Given the description of an element on the screen output the (x, y) to click on. 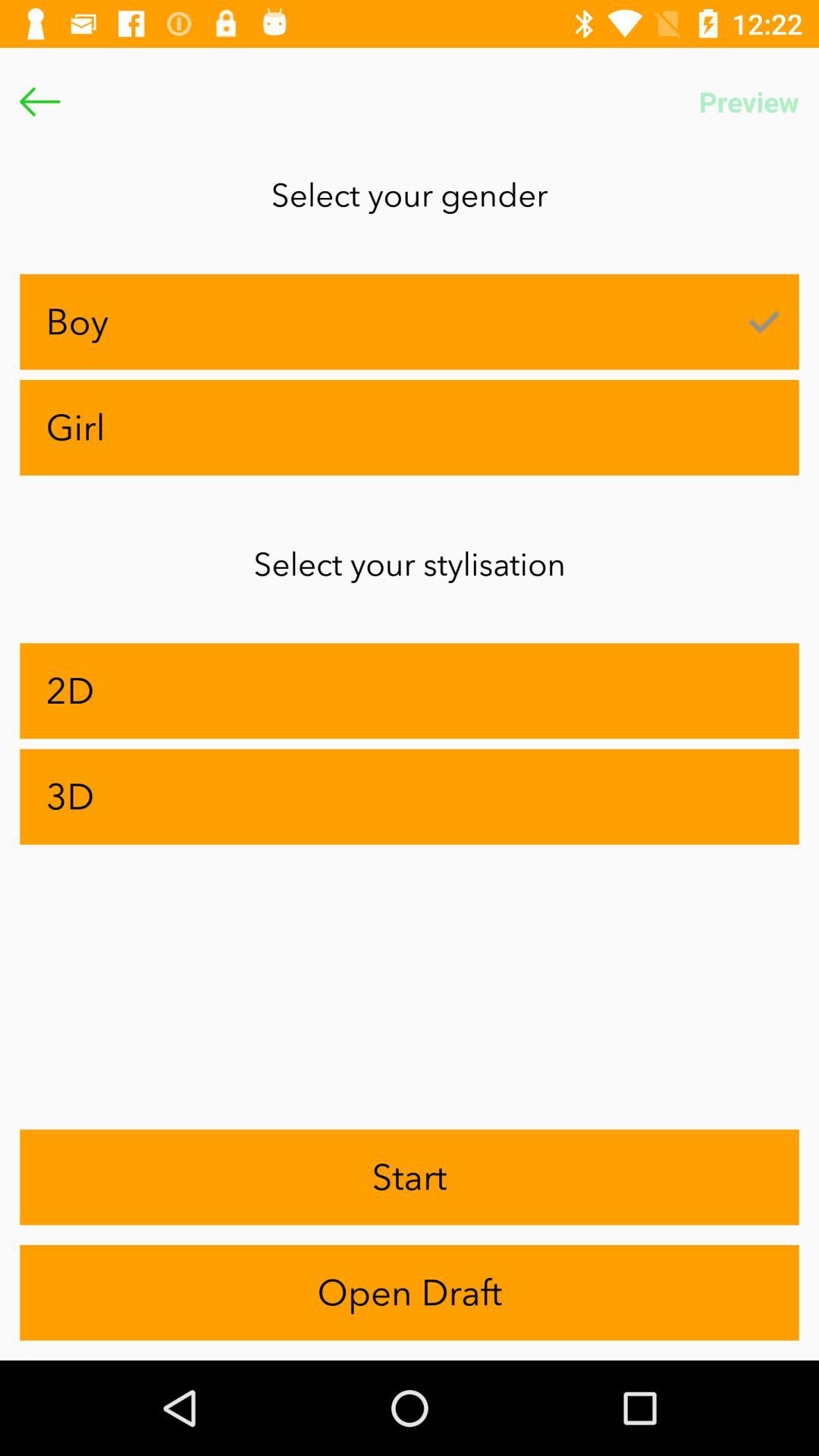
flip to the start (409, 1177)
